Given the description of an element on the screen output the (x, y) to click on. 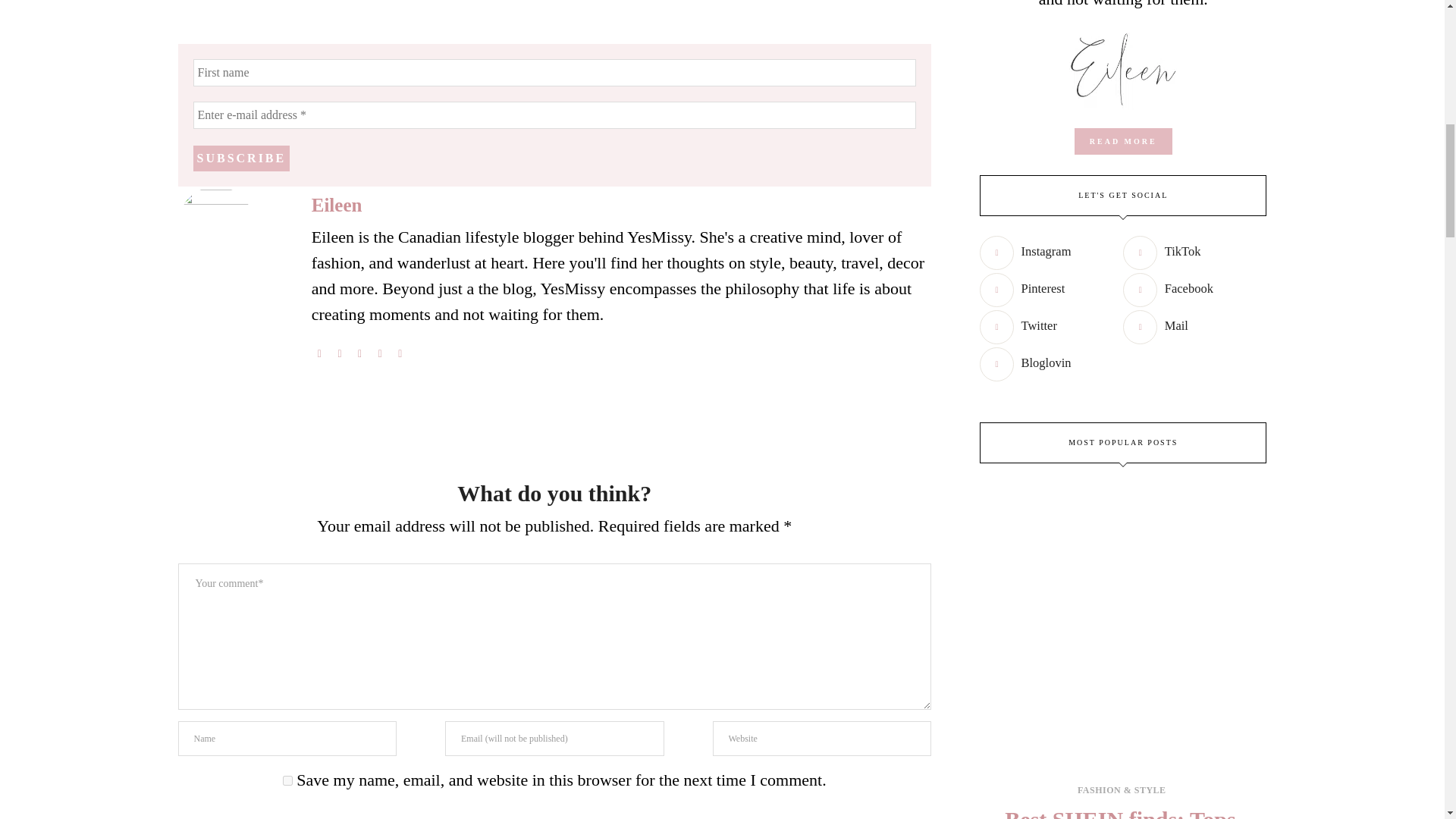
yes (287, 780)
First name (553, 72)
Subscribe (240, 158)
signature (1122, 67)
Enter e-mail address (553, 114)
Posts by Eileen (336, 204)
